Given the description of an element on the screen output the (x, y) to click on. 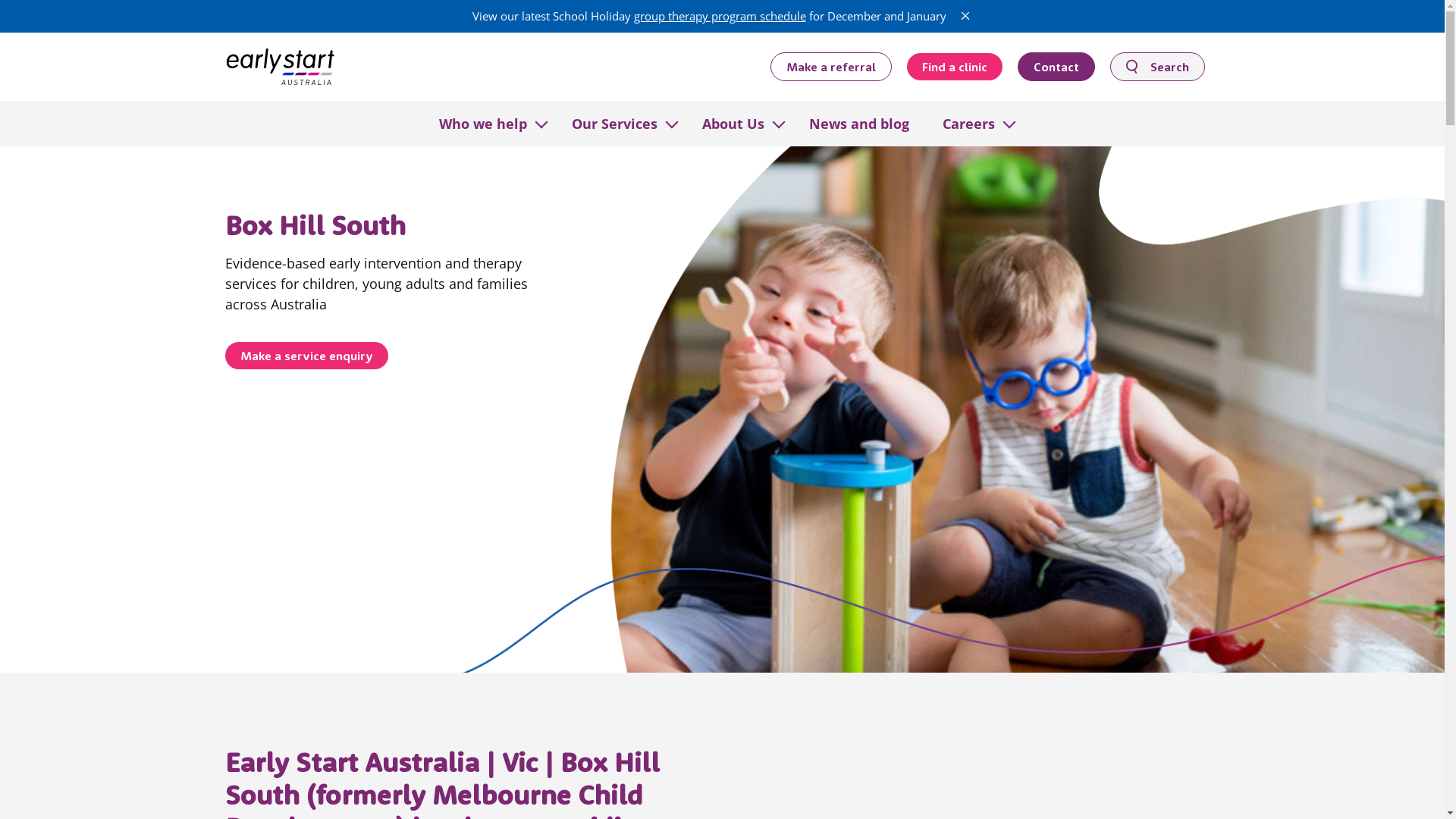
Make a referral Element type: text (830, 65)
Contact Element type: text (1056, 65)
group therapy program schedule Element type: text (719, 15)
News and blog Element type: text (858, 122)
Careers Element type: text (967, 122)
About Us Element type: text (732, 122)
Search Element type: text (1157, 65)
Who we help Element type: text (481, 122)
Our Services Element type: text (614, 122)
X Element type: text (964, 15)
Find a clinic Element type: text (954, 66)
Make a service enquiry Element type: text (305, 355)
